Given the description of an element on the screen output the (x, y) to click on. 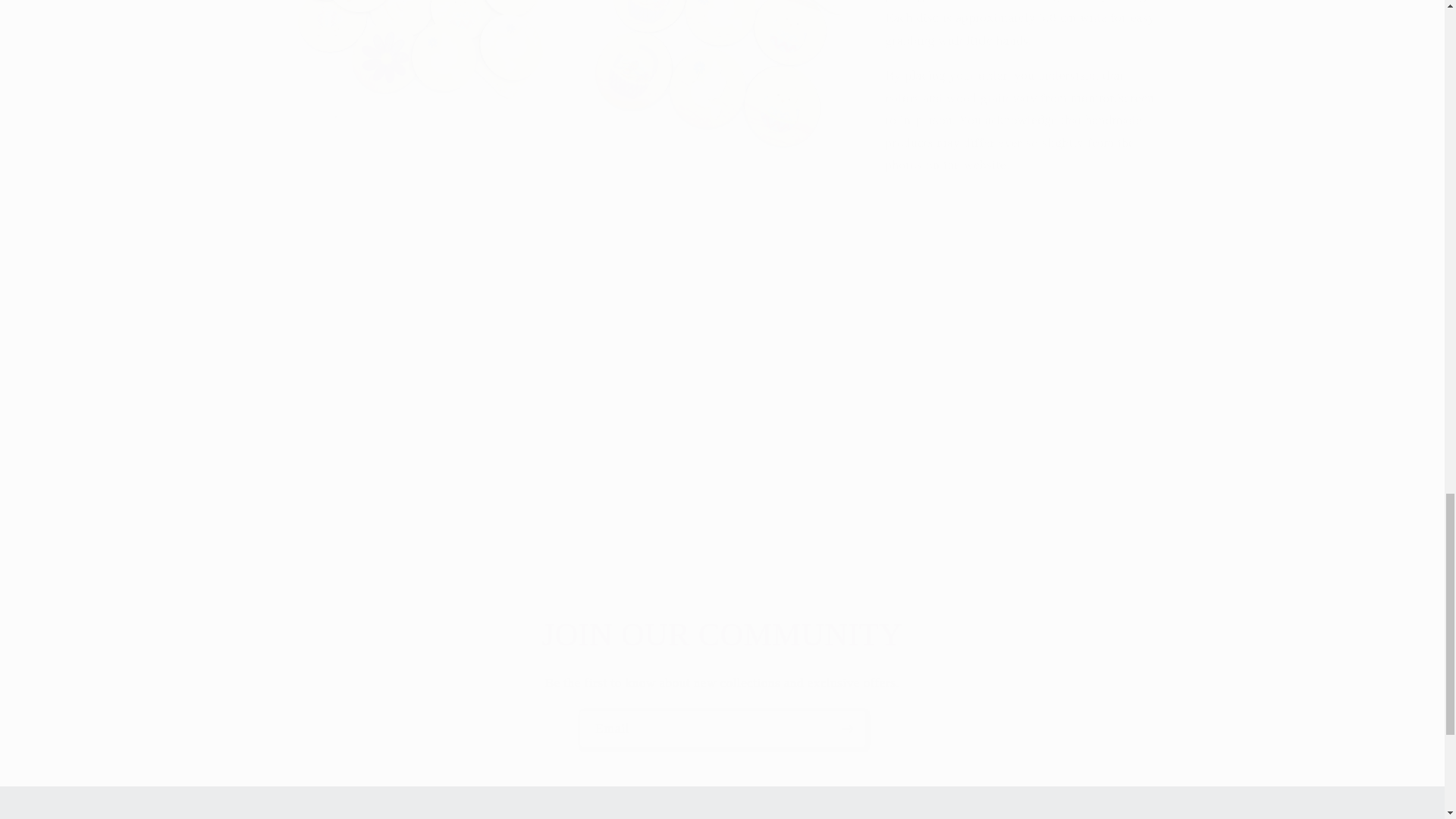
Email (722, 728)
Open media 4 in modal (418, 72)
Open media 5 in modal (718, 72)
JOIN OUR COMMUNITY (722, 635)
